Given the description of an element on the screen output the (x, y) to click on. 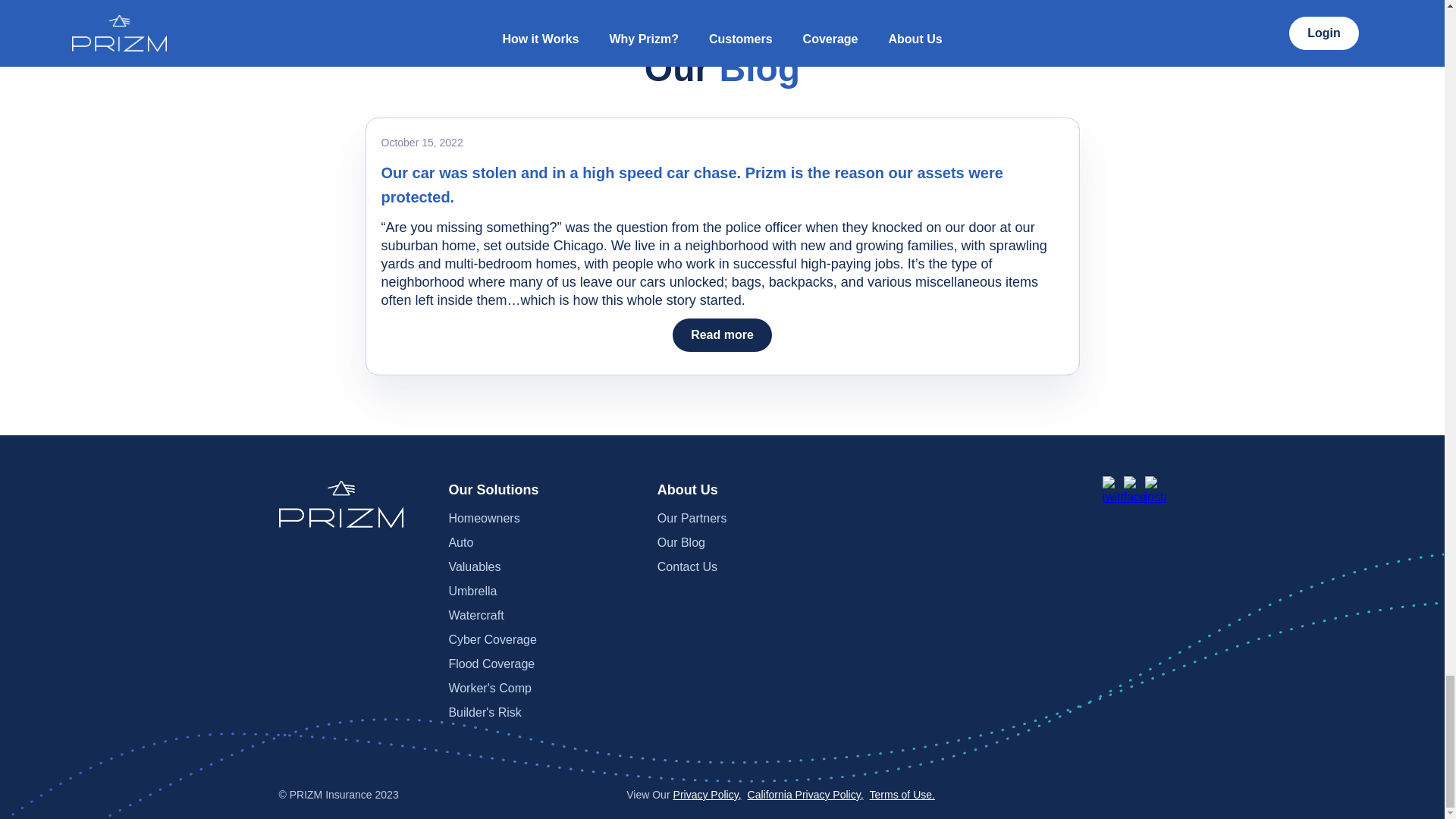
Flood Coverage (543, 663)
Cyber Coverage (543, 639)
Auto (543, 542)
Umbrella (543, 591)
Watercraft (543, 615)
Read more (721, 335)
Valuables (543, 567)
Homeowners (543, 518)
